Given the description of an element on the screen output the (x, y) to click on. 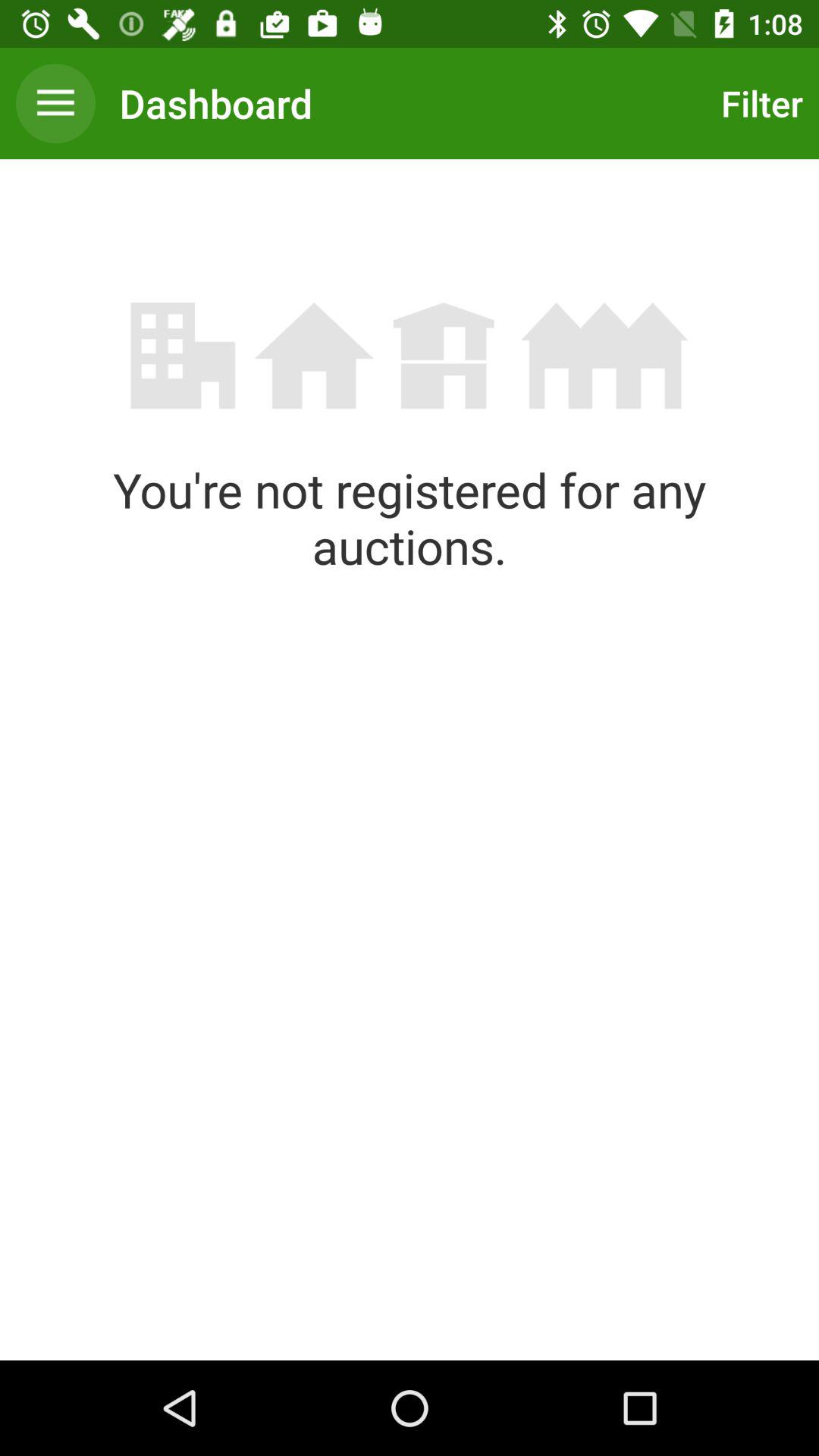
select item above the you re not (55, 103)
